Given the description of an element on the screen output the (x, y) to click on. 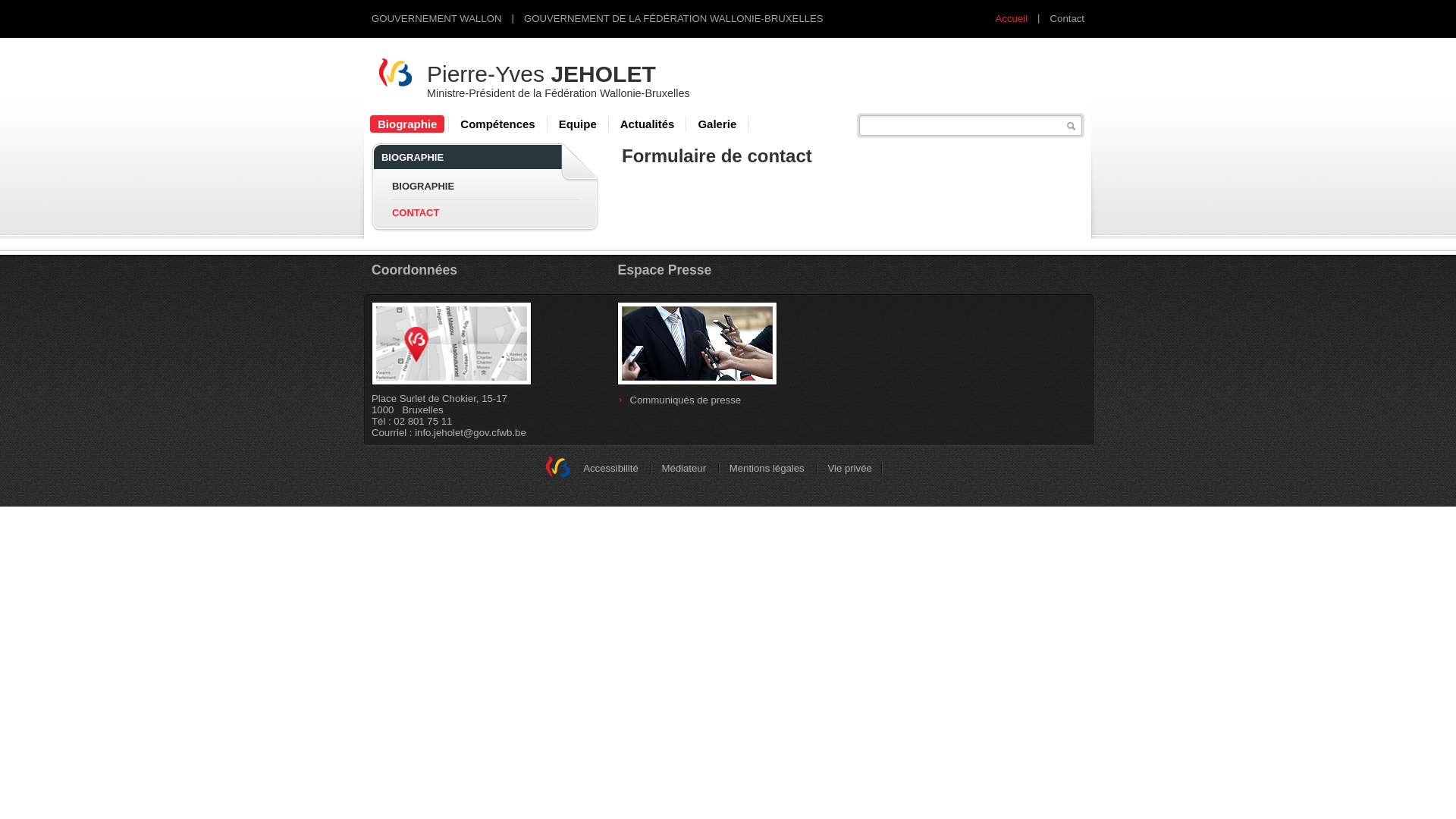
Biographie Element type: text (407, 123)
presse Element type: hover (697, 343)
GOUVERNEMENT WALLON Element type: text (436, 18)
BIOGRAPHIE Element type: text (423, 185)
Contact Element type: text (1067, 18)
Accueil Element type: text (1011, 18)
CONTACT Element type: text (415, 211)
Equipe Element type: text (577, 123)
Galerie Element type: text (716, 123)
